Given the description of an element on the screen output the (x, y) to click on. 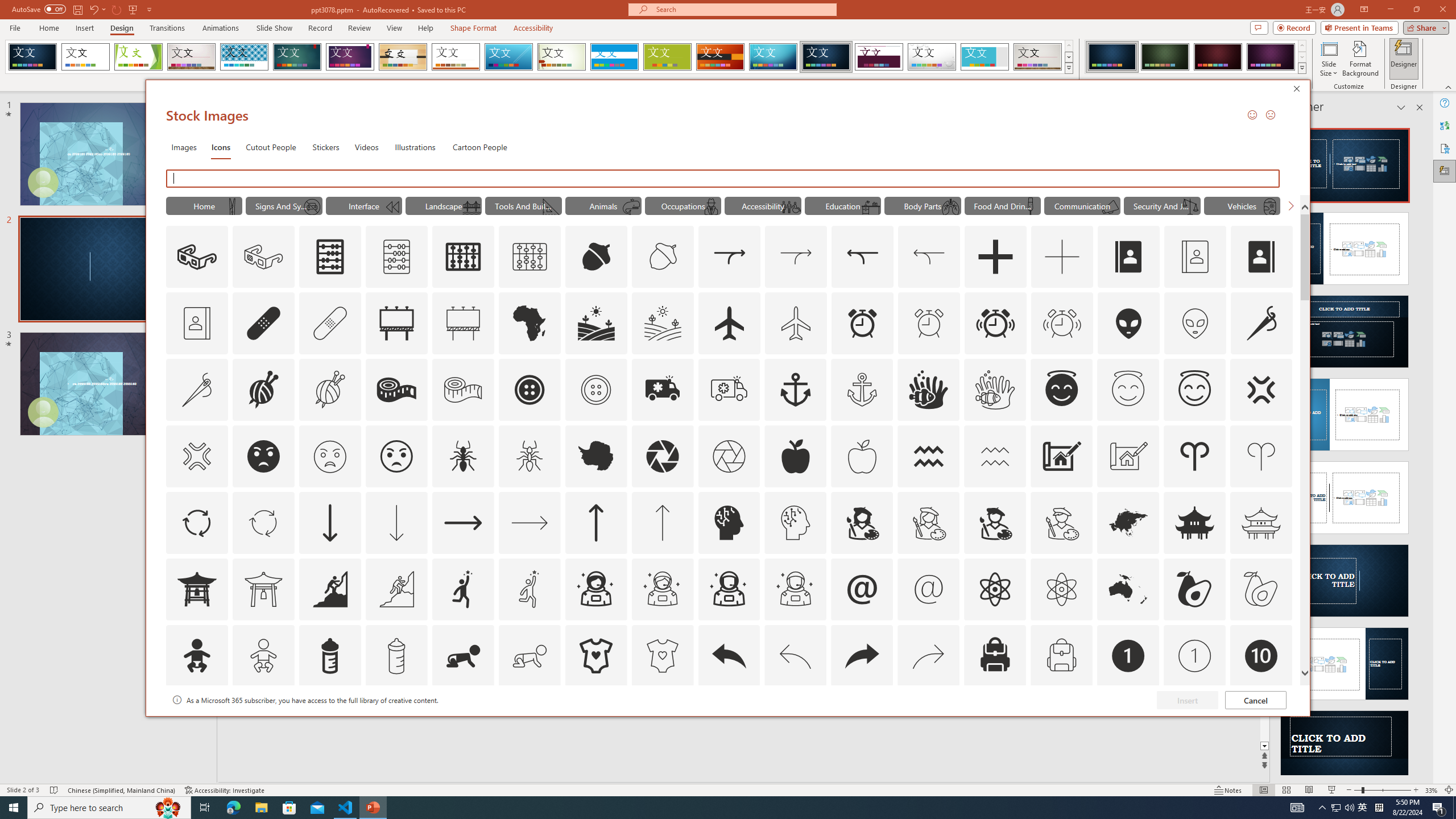
Organic (403, 56)
AutomationID: Icons_AlterationsTailoring_M (196, 389)
"Accessibility" Icons. (762, 205)
AutomationID: Icons_Aspiration1_M (529, 588)
AutomationID: Icons_Aquarius (928, 455)
Zoom 33% (1431, 790)
AutomationID: Icons_BabyBottle_M (395, 655)
AutomationID: Icons_Acquisition_LTR_M (796, 256)
AutomationID: Icons_AlarmClock (863, 323)
